Given the description of an element on the screen output the (x, y) to click on. 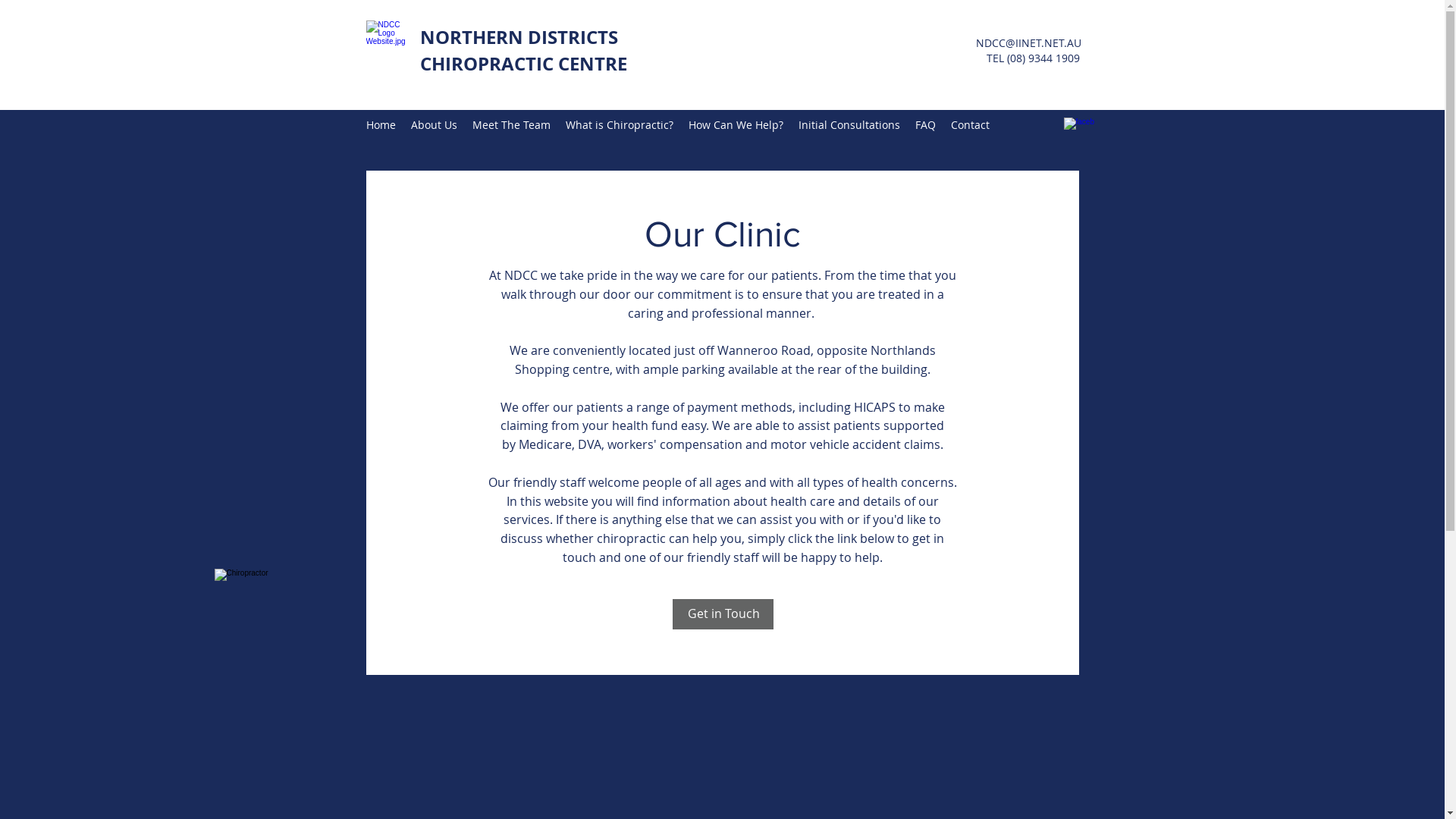
Home Element type: text (379, 124)
What is Chiropractic? Element type: text (619, 124)
Meet The Team Element type: text (510, 124)
Contact Element type: text (970, 124)
How Can We Help? Element type: text (735, 124)
Get in Touch Element type: text (721, 614)
NDCC@IINET.NET.AU Element type: text (1027, 42)
FAQ Element type: text (924, 124)
About Us Element type: text (433, 124)
Initial Consultations Element type: text (848, 124)
